Given the description of an element on the screen output the (x, y) to click on. 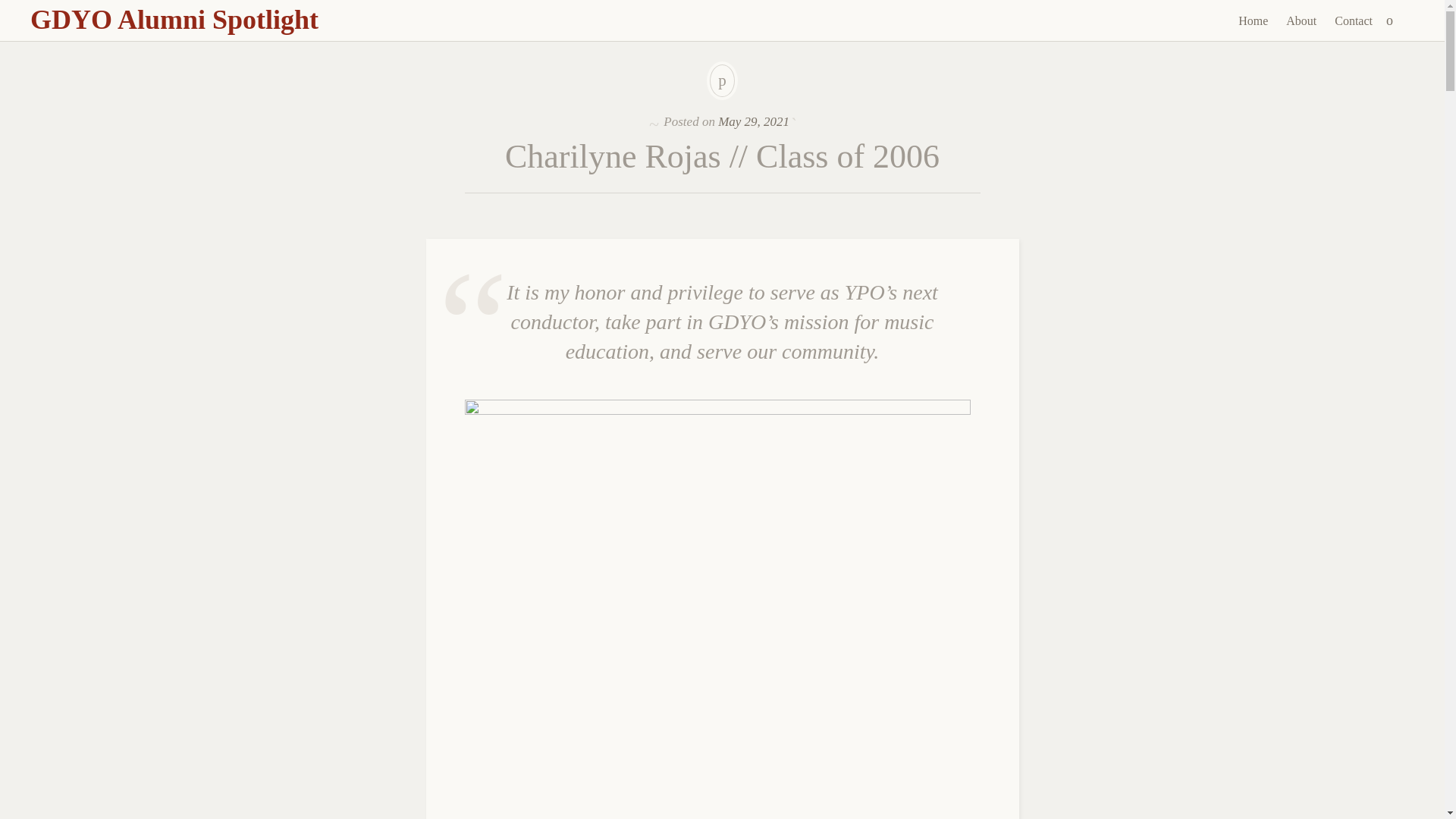
May 29, 2021 (753, 120)
Home (1252, 21)
Search (11, 9)
Contact (1353, 21)
About (1300, 21)
GDYO Alumni Spotlight (174, 19)
GDYO Alumni Spotlight (174, 19)
